Given the description of an element on the screen output the (x, y) to click on. 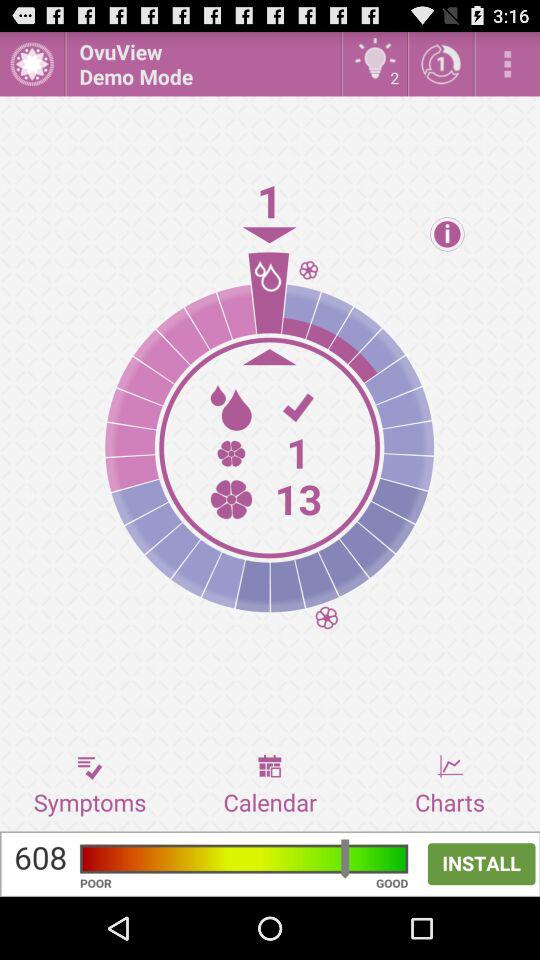
open the settings (507, 63)
